Given the description of an element on the screen output the (x, y) to click on. 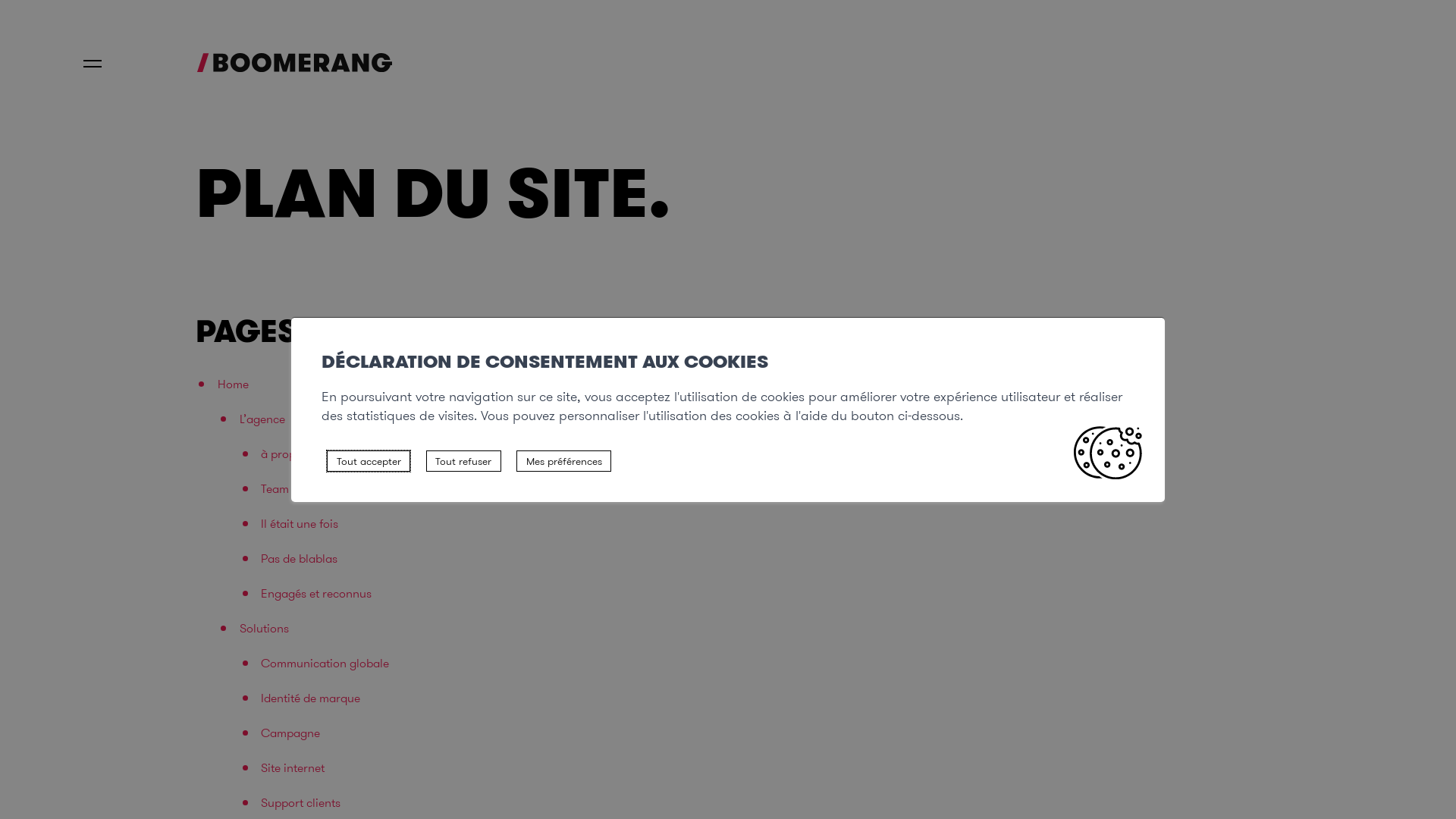
Team Element type: text (274, 487)
Solutions Element type: text (263, 627)
Site internet Element type: text (292, 767)
Support clients Element type: text (300, 801)
Pas de blablas Element type: text (298, 557)
Home Element type: text (232, 383)
Menu principal Element type: hover (92, 63)
Tout refuser Element type: text (463, 460)
Campagne Element type: text (290, 732)
Communication globale Element type: text (324, 662)
Tout accepter Element type: text (368, 460)
